Given the description of an element on the screen output the (x, y) to click on. 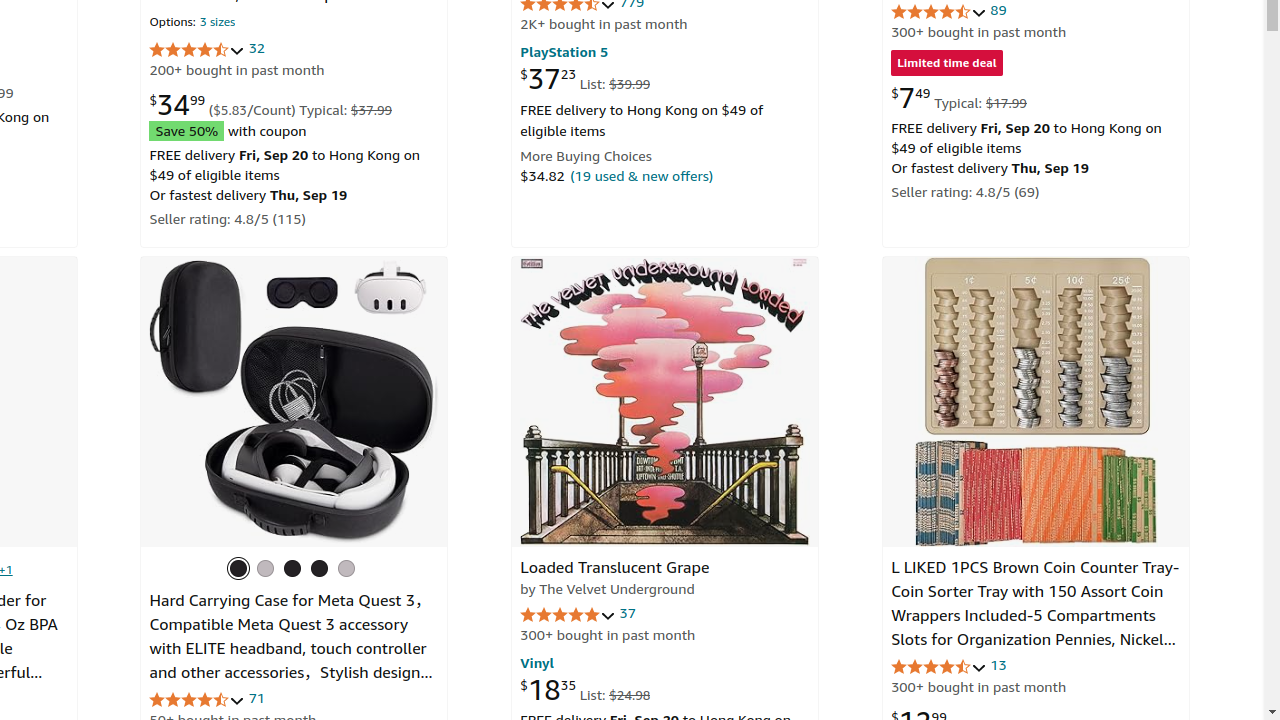
4.3 out of 5 stars Element type: push-button (197, 49)
$34.99 ( $5.83 /Count) Typical: $37.99 Element type: link (271, 104)
L LIKED 1PCS Brown Coin Counter Tray-Coin Sorter Tray with 150 Assort Coin Wrappers Included-5 Compartments Slots for Organization Pennies, Nickels, Dimes, and Quarters - Use for Bank,Home and Office Element type: link (1035, 628)
$7.49 Typical: $17.99 Element type: link (959, 97)
13 Element type: link (998, 665)
